Given the description of an element on the screen output the (x, y) to click on. 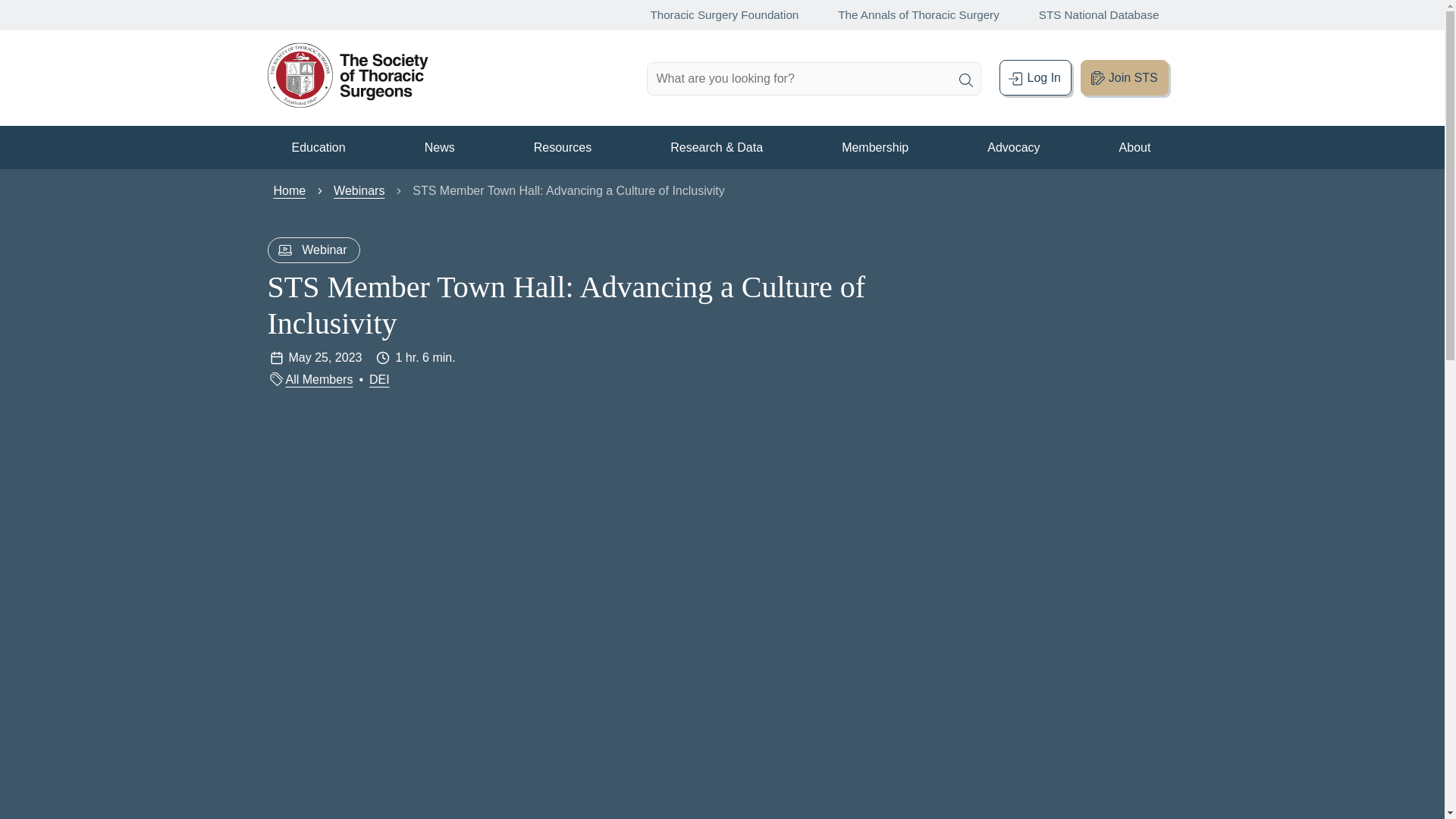
The Annals of Thoracic Surgery (907, 14)
Education (317, 147)
Thoracic Surgery Foundation (712, 14)
Resources (562, 147)
Join STS (1124, 77)
STS National Database (1087, 14)
News (439, 147)
Log In (1034, 77)
